Given the description of an element on the screen output the (x, y) to click on. 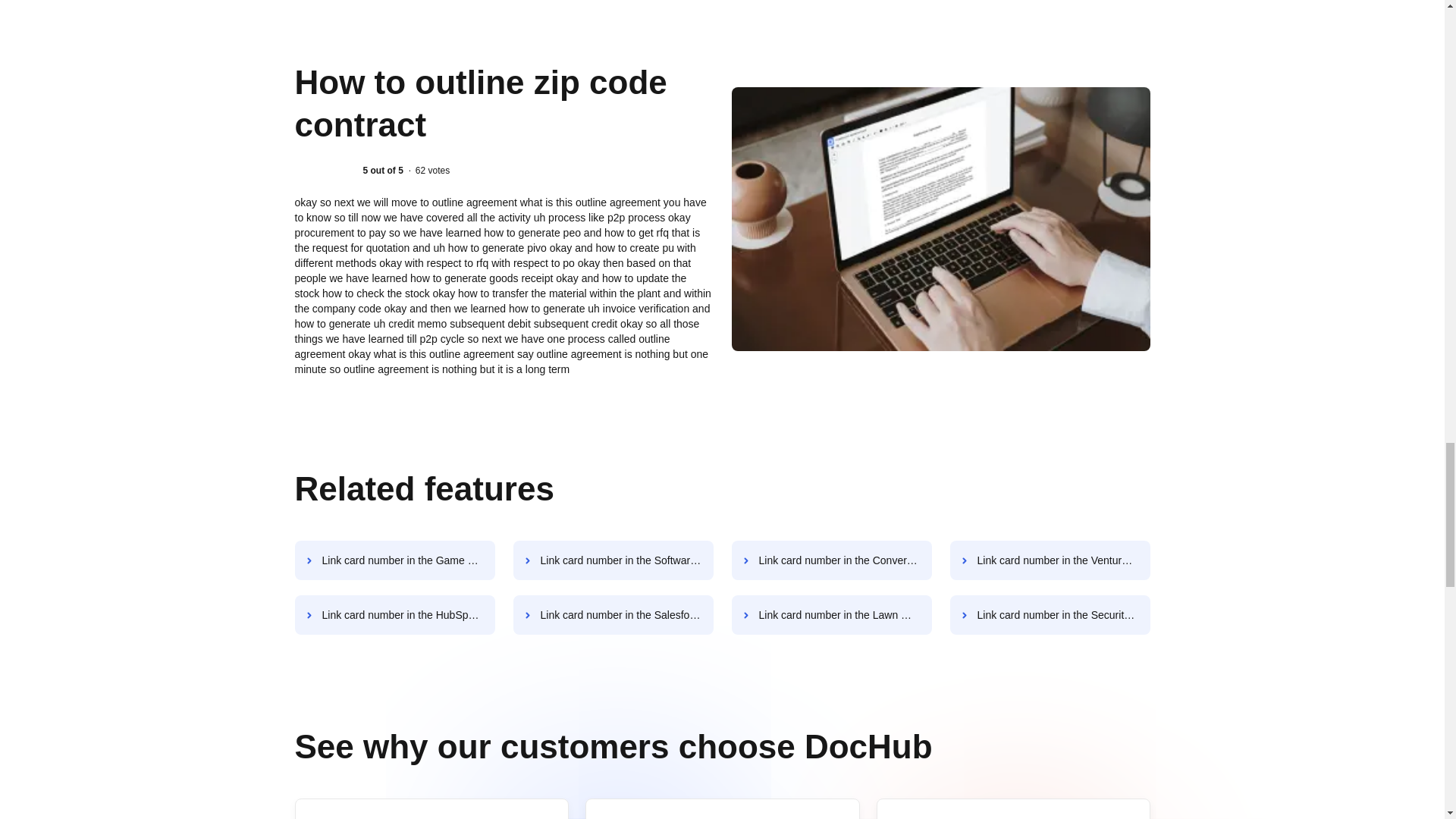
Link card number in the HubSpot Proposal Template (394, 614)
Link card number in the Venture Capital Proposal Template (1049, 559)
Link card number in the Security Proposal Template (1049, 614)
Link card number in the Software Sales Proposal Template (612, 559)
Link card number in the Lawn Maintenance Proposal Template (830, 614)
Link card number in the Game Development Proposal Template (394, 559)
Link card number in the Salesforce Proposal Template (612, 614)
